Given the description of an element on the screen output the (x, y) to click on. 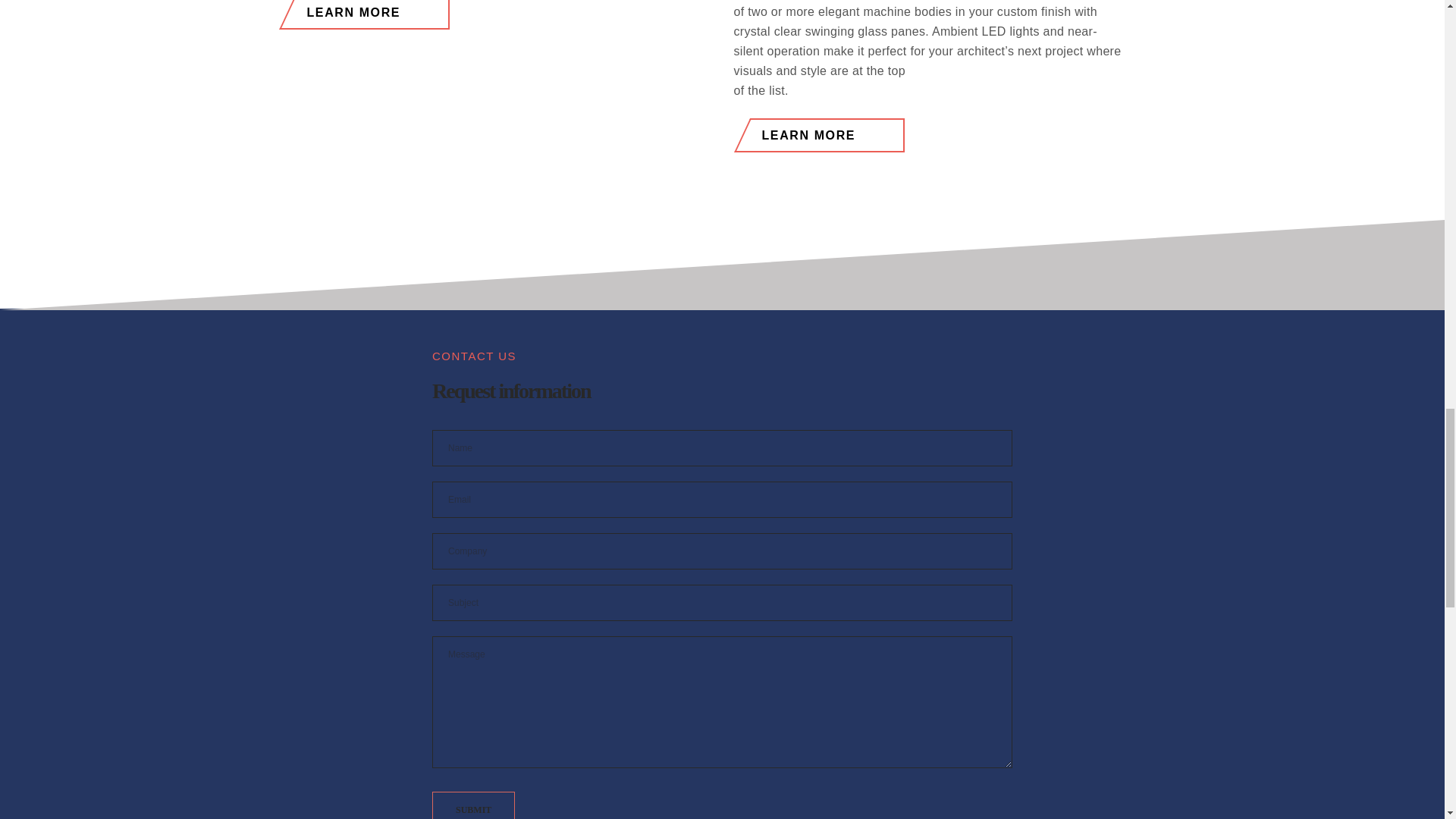
LEARN MORE (938, 134)
LEARN MORE (503, 14)
Submit (473, 805)
Submit (473, 805)
